Given the description of an element on the screen output the (x, y) to click on. 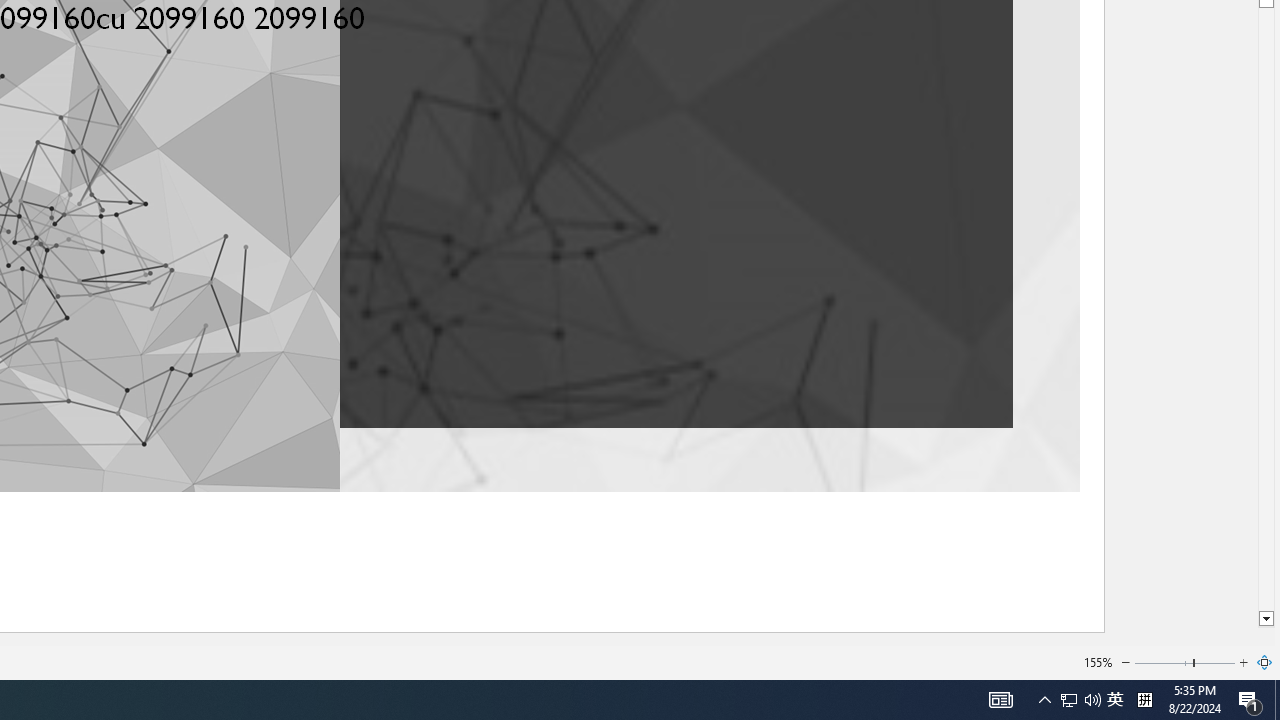
Page right (1215, 662)
Zoom to Page (1265, 662)
155% (1098, 662)
Page left (1163, 662)
